Given the description of an element on the screen output the (x, y) to click on. 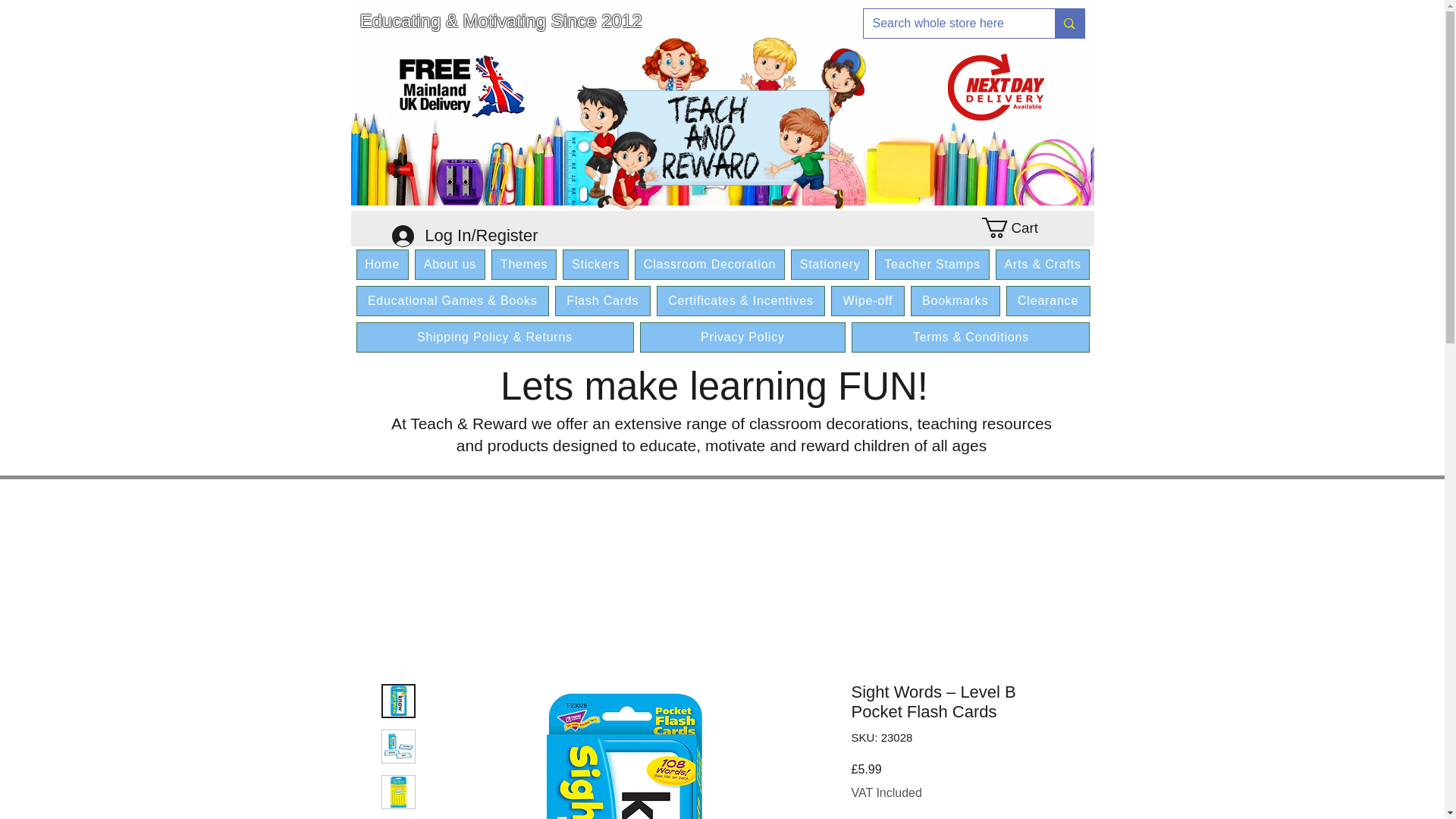
Stickers (595, 264)
Cart (1018, 227)
About us (449, 264)
Themes (524, 264)
Stationery (829, 264)
Teacher Stamps (931, 264)
Home (382, 264)
Classroom Decoration (709, 264)
Cart (1018, 227)
